Given the description of an element on the screen output the (x, y) to click on. 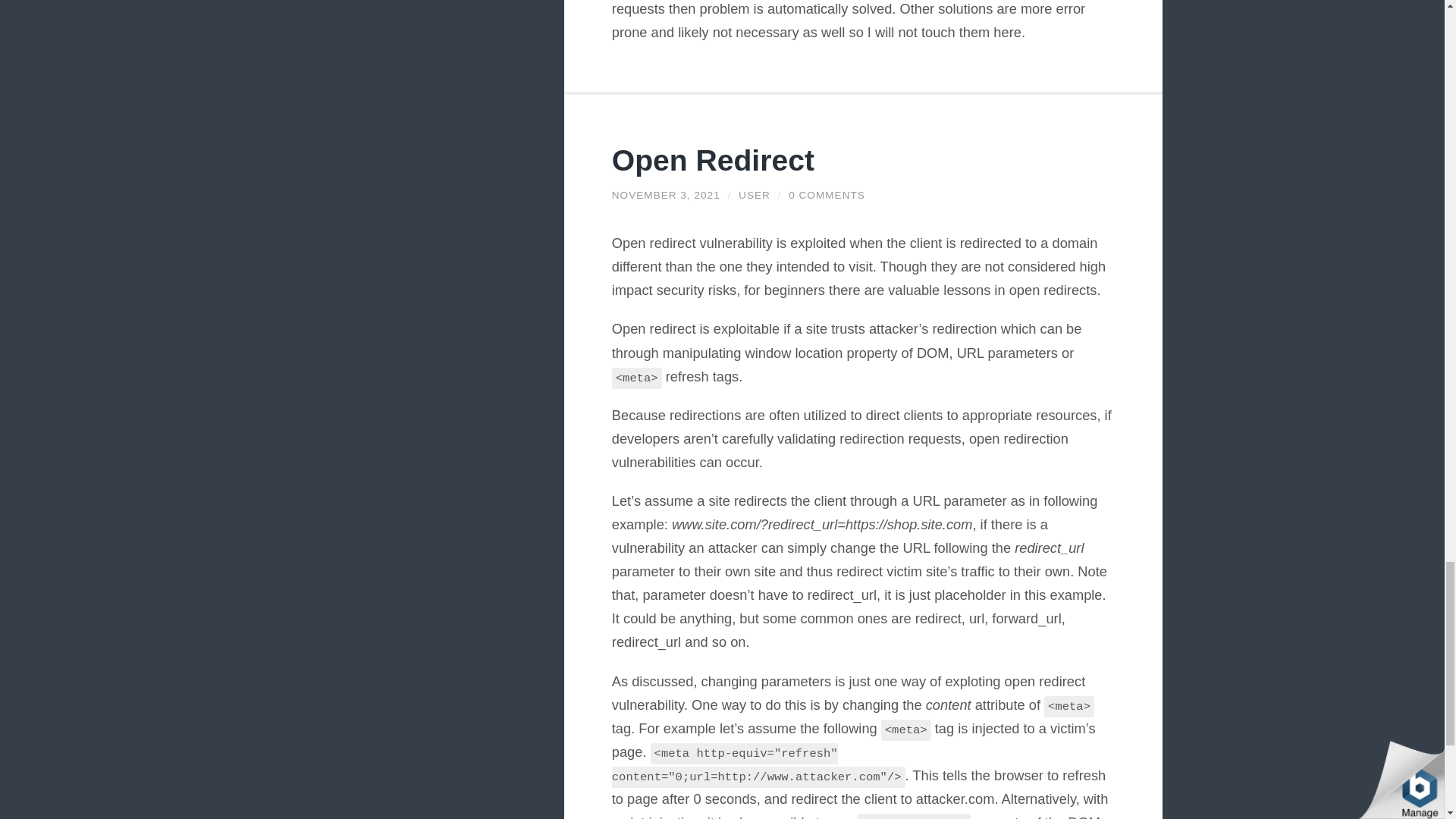
Open Redirect (712, 160)
USER (754, 194)
Open Redirect (712, 160)
NOVEMBER 3, 2021 (665, 194)
0 COMMENTS (826, 194)
Open Redirect (665, 194)
Posts by user (754, 194)
